Given the description of an element on the screen output the (x, y) to click on. 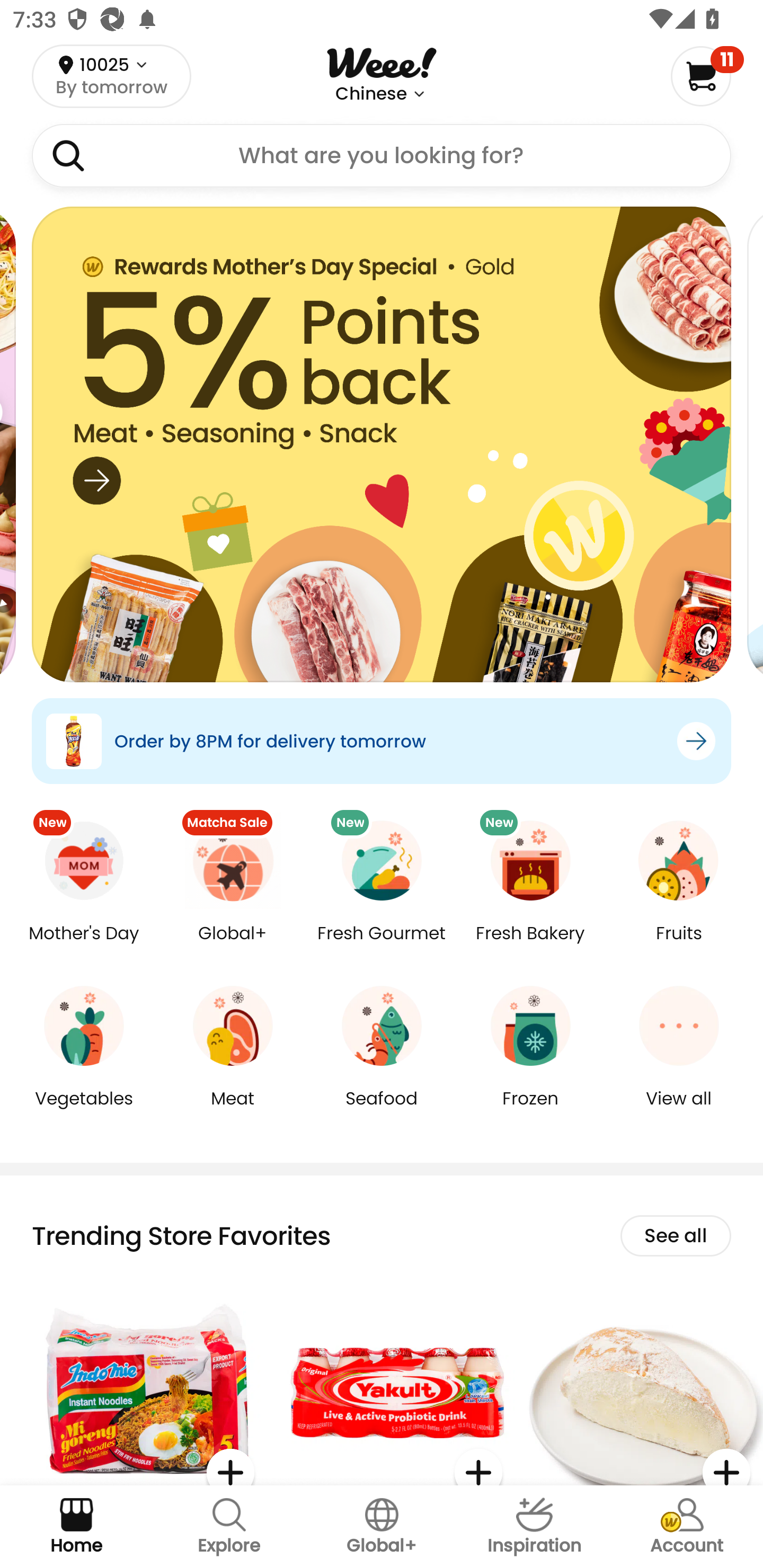
10025 By tomorrow (111, 75)
11 (706, 75)
Chinese (370, 93)
What are you looking for? (381, 155)
Order by 8PM for delivery tomorrow (381, 740)
Mother's Day (83, 946)
Global+ (232, 946)
Fresh Gourmet (381, 946)
Fresh Bakery (530, 946)
Fruits (678, 946)
Vegetables (83, 1111)
Meat (232, 1111)
Seafood (381, 1111)
Frozen (530, 1111)
View all (678, 1111)
Home (76, 1526)
Explore (228, 1526)
Global+ (381, 1526)
Inspiration (533, 1526)
Account (686, 1526)
